Given the description of an element on the screen output the (x, y) to click on. 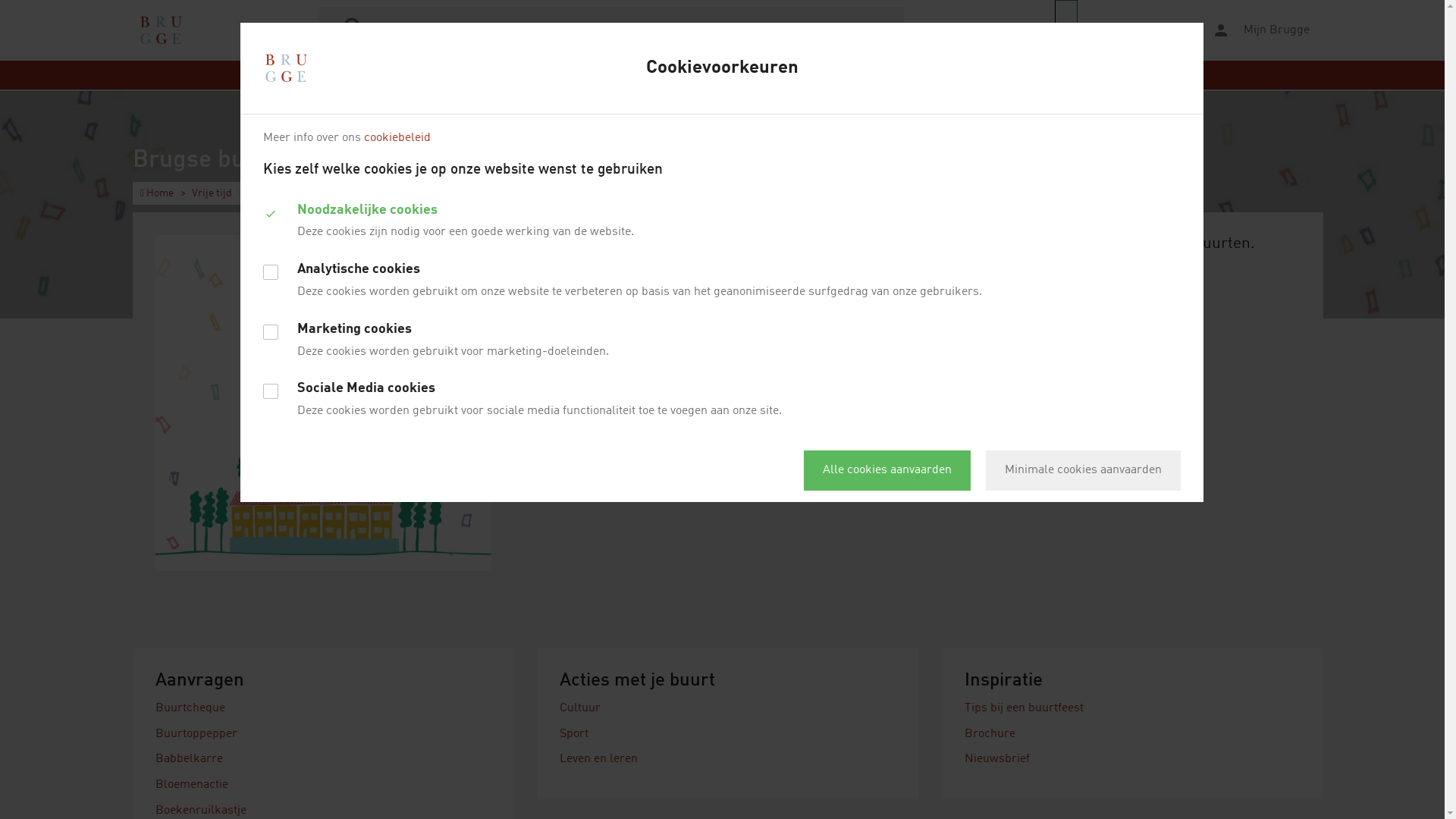
BESTUUR Element type: text (1006, 74)
Bloemenactie Element type: text (191, 784)
Brochure Element type: text (989, 734)
Buurtoppepper Element type: text (196, 734)
WERK & ONDERNEMEN Element type: text (800, 74)
Minimale cookies aanvaarden Element type: text (1082, 470)
Lees voor Element type: text (1122, 30)
brugsebuurten@brugge.be Element type: text (1109, 286)
Tips bij een buurtfeest Element type: text (1023, 708)
Sport Element type: text (573, 734)
WONEN & OMGEVING Element type: text (598, 74)
Nieuwsbrief Element type: text (996, 759)
LEVEN & MOBILITEIT Element type: text (475, 74)
Cultuur Element type: text (579, 708)
cookiebeleid Element type: text (397, 137)
050 44 82 22 Element type: text (996, 286)
VRIJE TIJD Element type: text (697, 74)
Babbelkarre Element type: text (188, 759)
Volg ons op facebook Element type: hover (1038, 330)
Ga naar de startpagina Element type: hover (160, 30)
Boekenruilkastje Element type: text (200, 810)
Vrije tijd Element type: text (211, 193)
Buurtcheque Element type: text (190, 708)
Bekijk de openingsuren Element type: text (1027, 304)
Leven en leren Element type: text (598, 759)
WELZIJN & ZORG Element type: text (919, 74)
Bekijk de brochure Element type: text (1029, 385)
Alle cookies aanvaarden Element type: text (886, 470)
webReader menu Element type: hover (1065, 30)
Home Element type: text (156, 193)
